Given the description of an element on the screen output the (x, y) to click on. 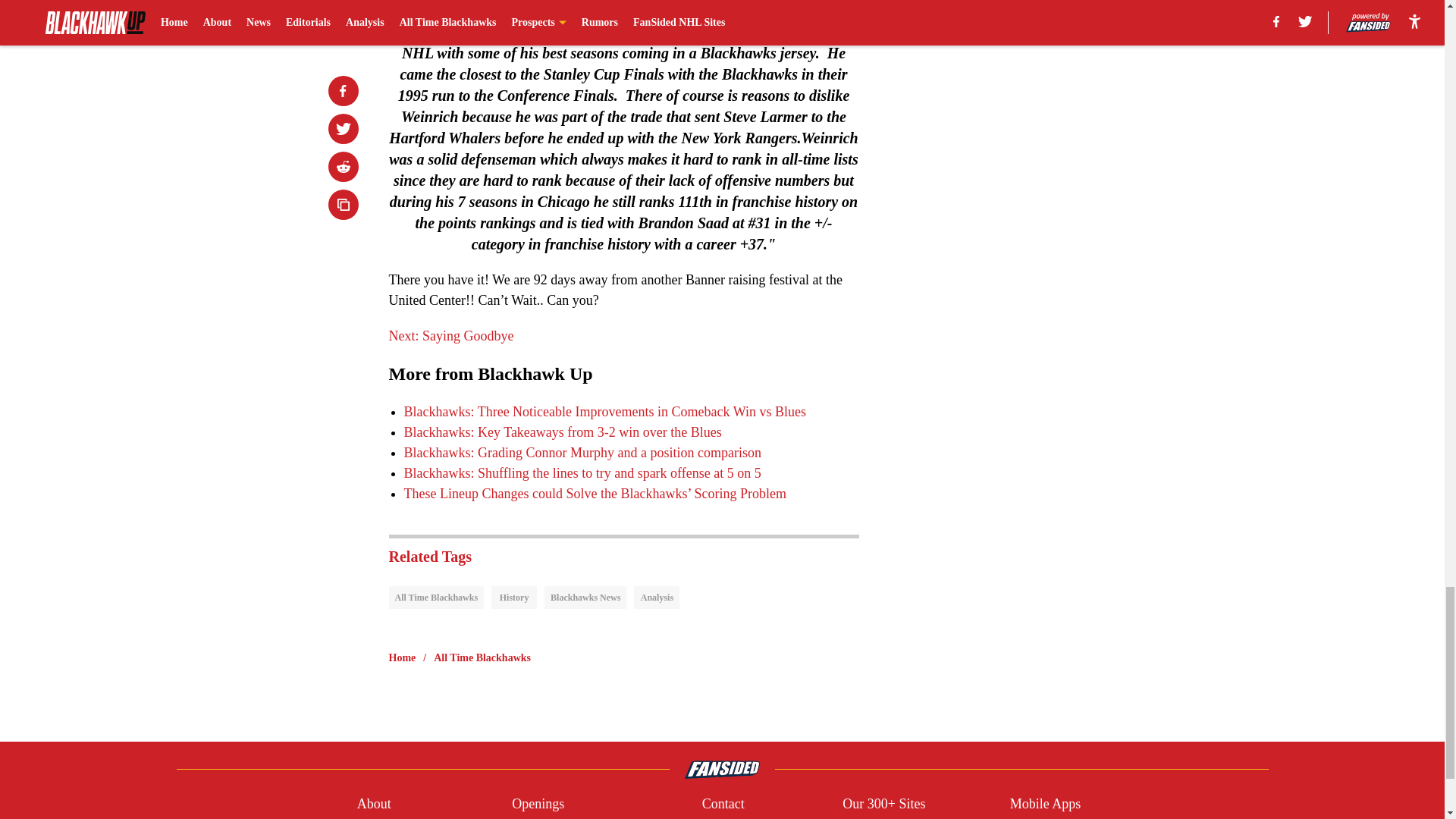
All Time Blackhawks (435, 597)
Next: Saying Goodbye (450, 335)
Analysis (656, 597)
Blackhawks: Key Takeaways from 3-2 win over the Blues (561, 432)
History (514, 597)
Blackhawks News (585, 597)
Blackhawks: Grading Connor Murphy and a position comparison (581, 452)
